Given the description of an element on the screen output the (x, y) to click on. 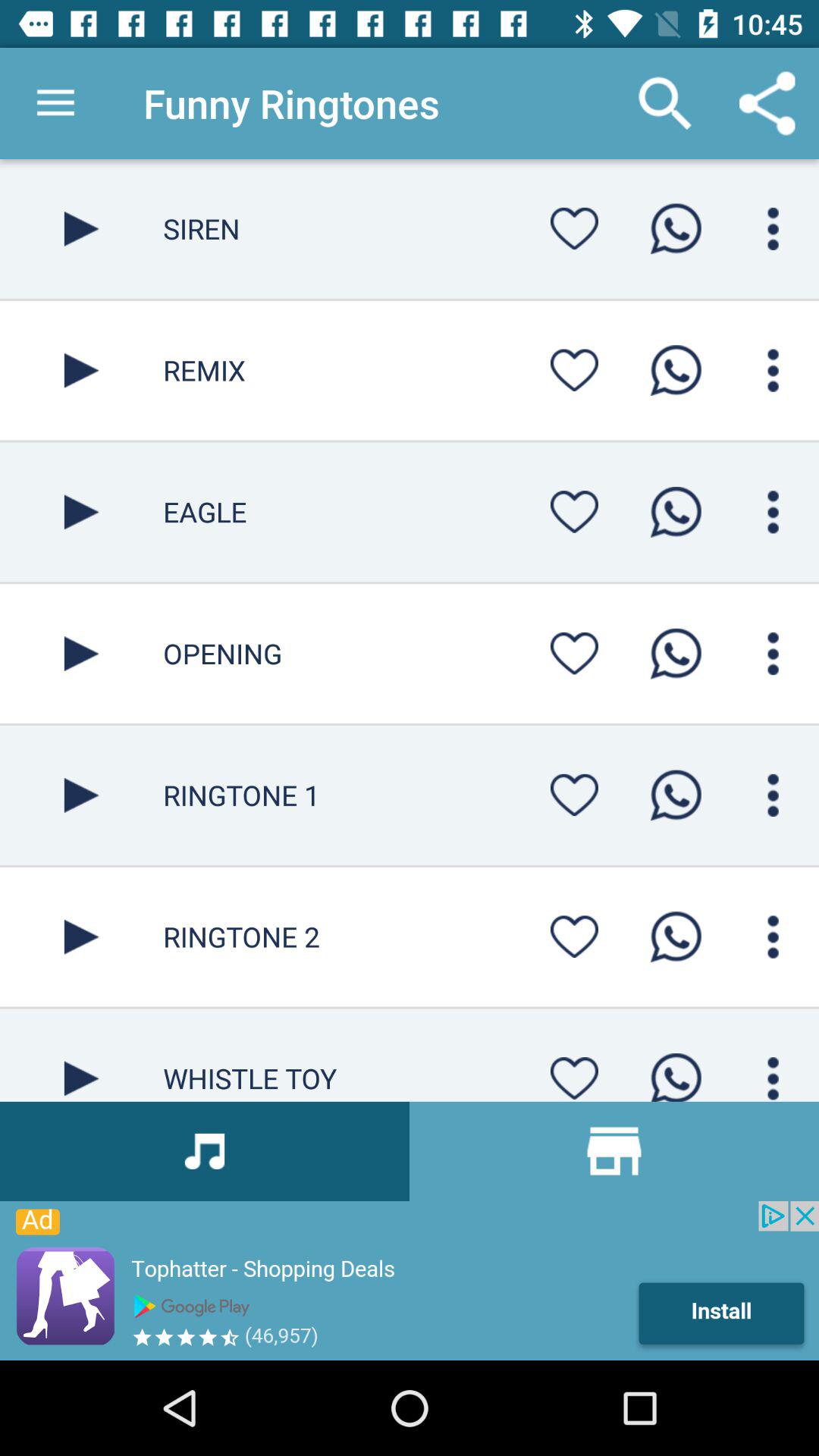
icon (773, 511)
